Given the description of an element on the screen output the (x, y) to click on. 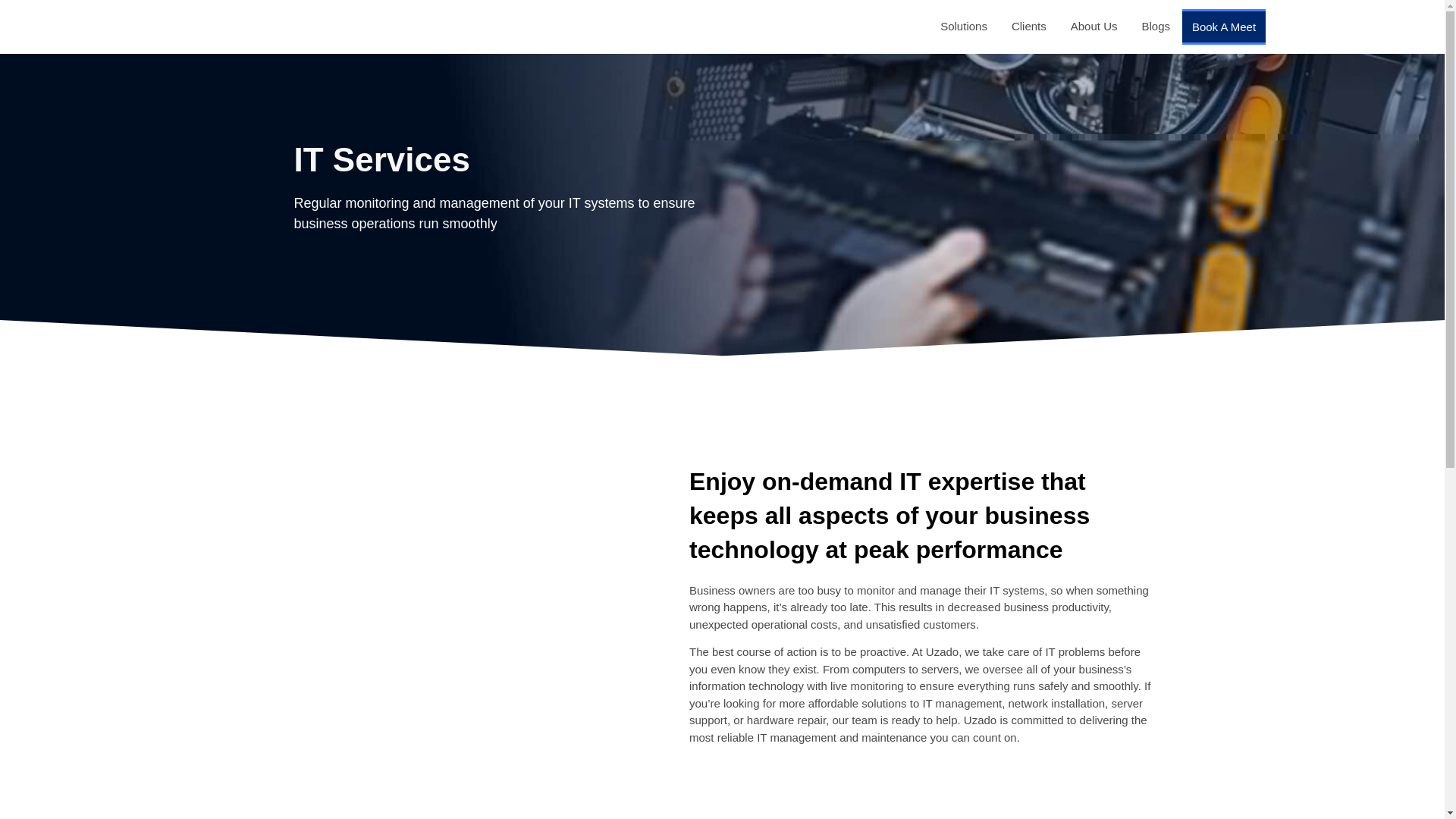
About Us (1094, 27)
Book A Meet (1223, 27)
Solutions (963, 27)
Clients (1028, 27)
